Given the description of an element on the screen output the (x, y) to click on. 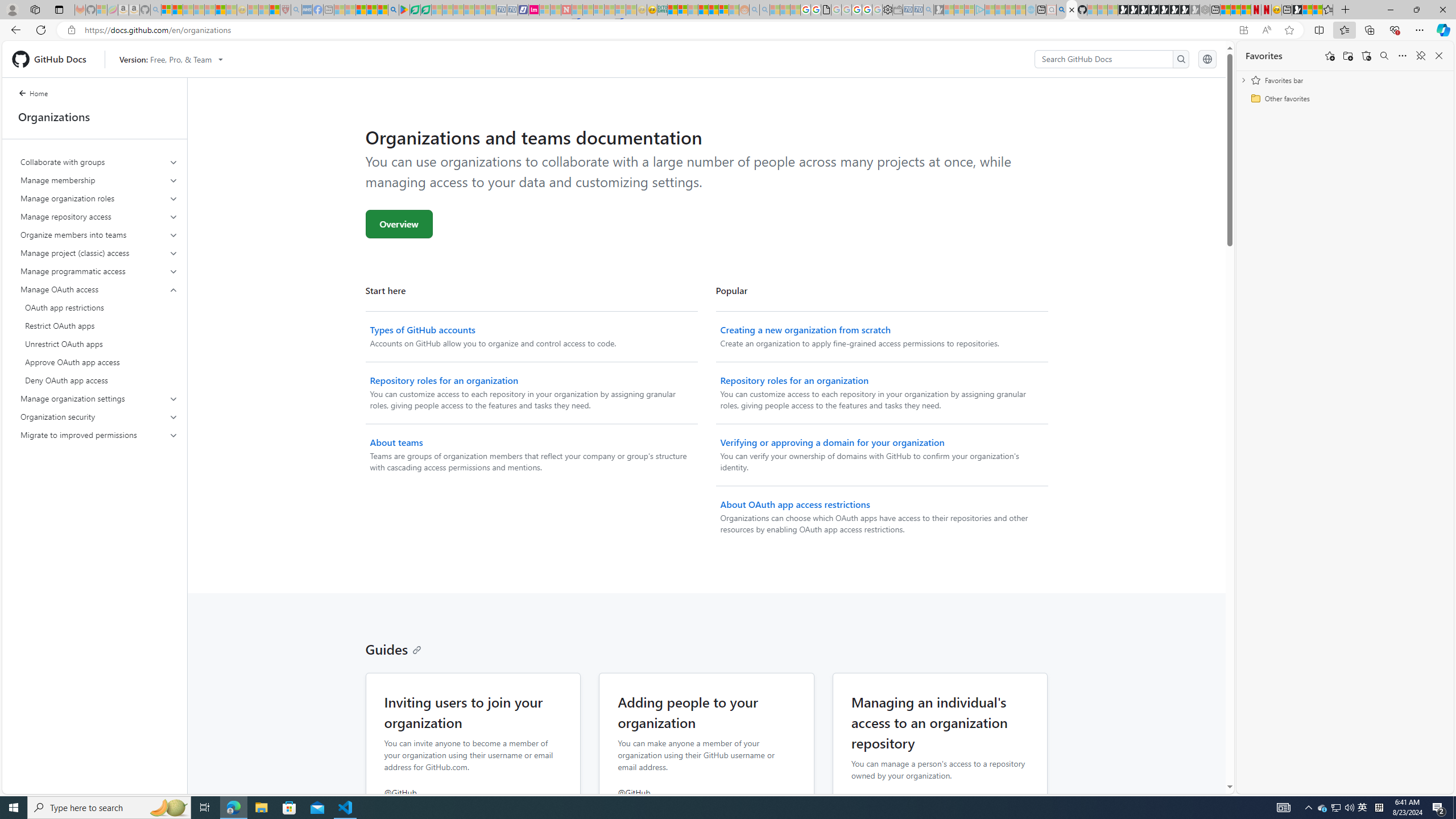
Restrict OAuth apps (99, 325)
google - Search (392, 9)
New Report Confirms 2023 Was Record Hot | Watch - Sleeping (209, 9)
Jobs - lastminute.com Investor Portal (534, 9)
Manage repository access (99, 216)
Approve OAuth app access (99, 361)
github - Search (1061, 9)
Utah sues federal government - Search - Sleeping (764, 9)
